Given the description of an element on the screen output the (x, y) to click on. 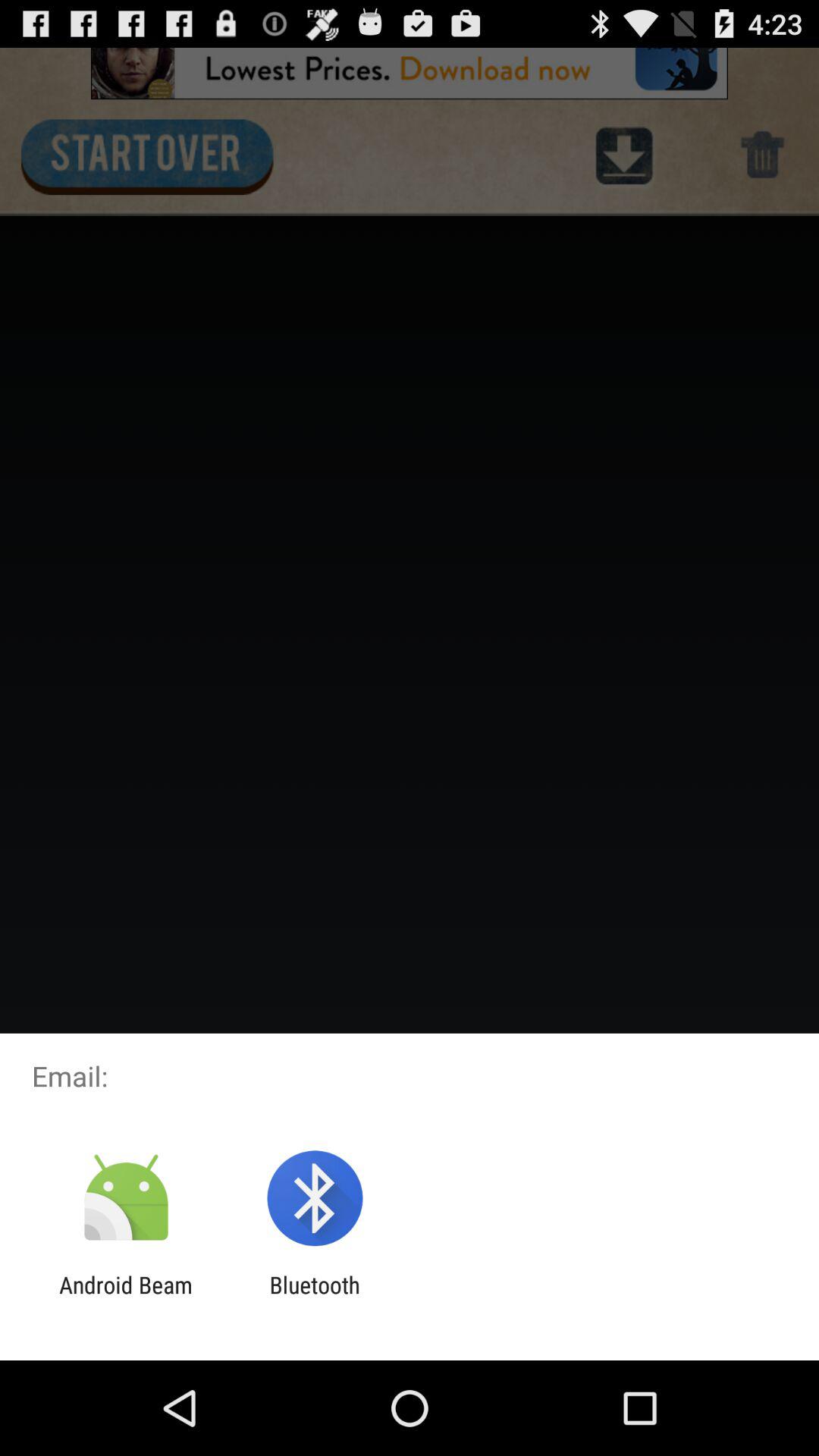
launch icon next to bluetooth (125, 1298)
